Given the description of an element on the screen output the (x, y) to click on. 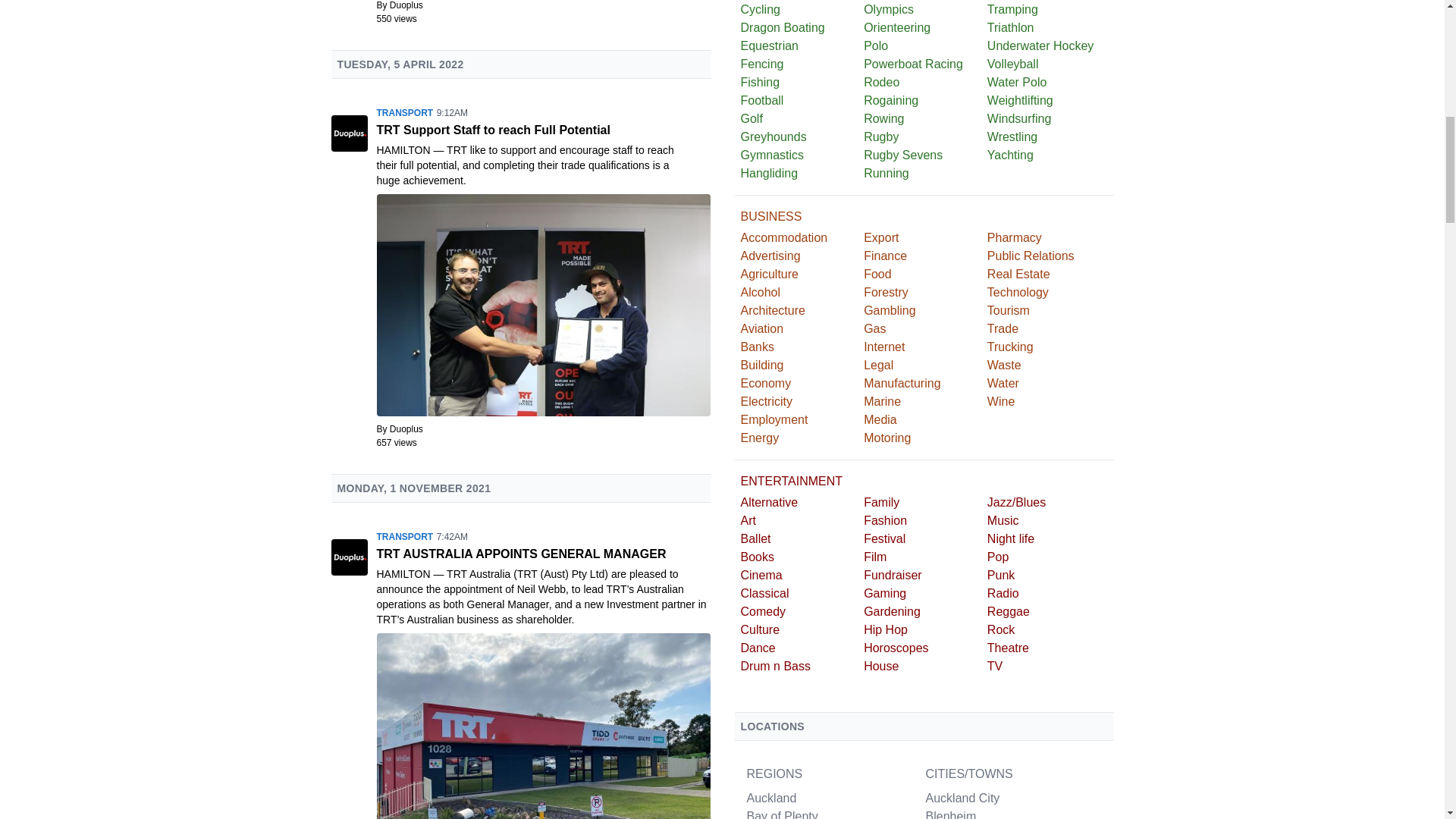
TRANSPORT (403, 112)
TRT Support Staff to reach Full Potential (542, 130)
TRT AUSTRALIA APPOINTS GENERAL MANAGER (542, 554)
Duoplus (406, 5)
TRANSPORT (403, 536)
HAMILTON (403, 573)
HAMILTON (403, 150)
Duoplus (406, 429)
